Given the description of an element on the screen output the (x, y) to click on. 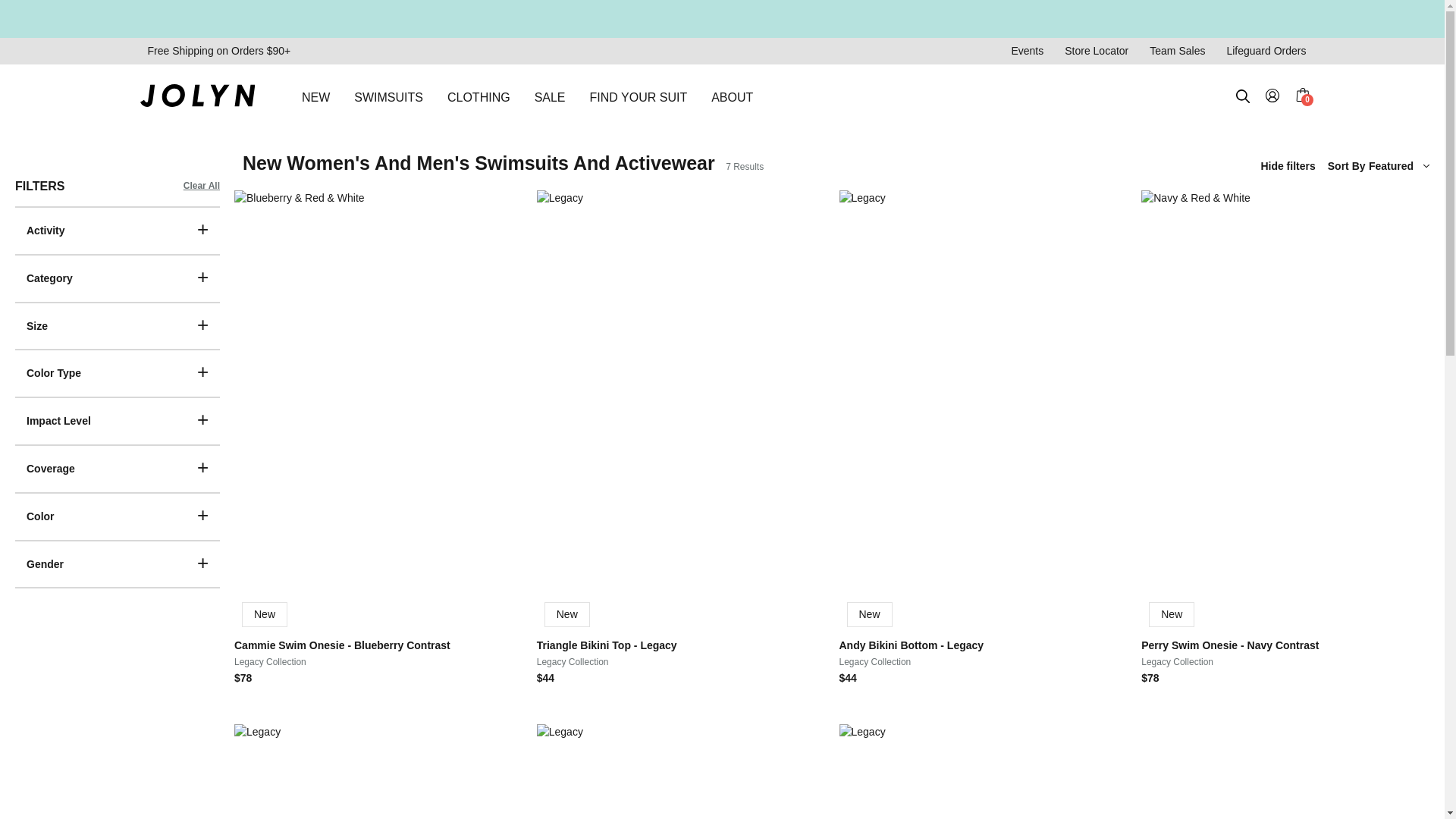
SWIMSUITS (388, 97)
CLOTHING (478, 97)
Store Locator (1096, 50)
Team Sales (1177, 50)
Events (1026, 50)
Lifeguard Orders (1265, 50)
